Given the description of an element on the screen output the (x, y) to click on. 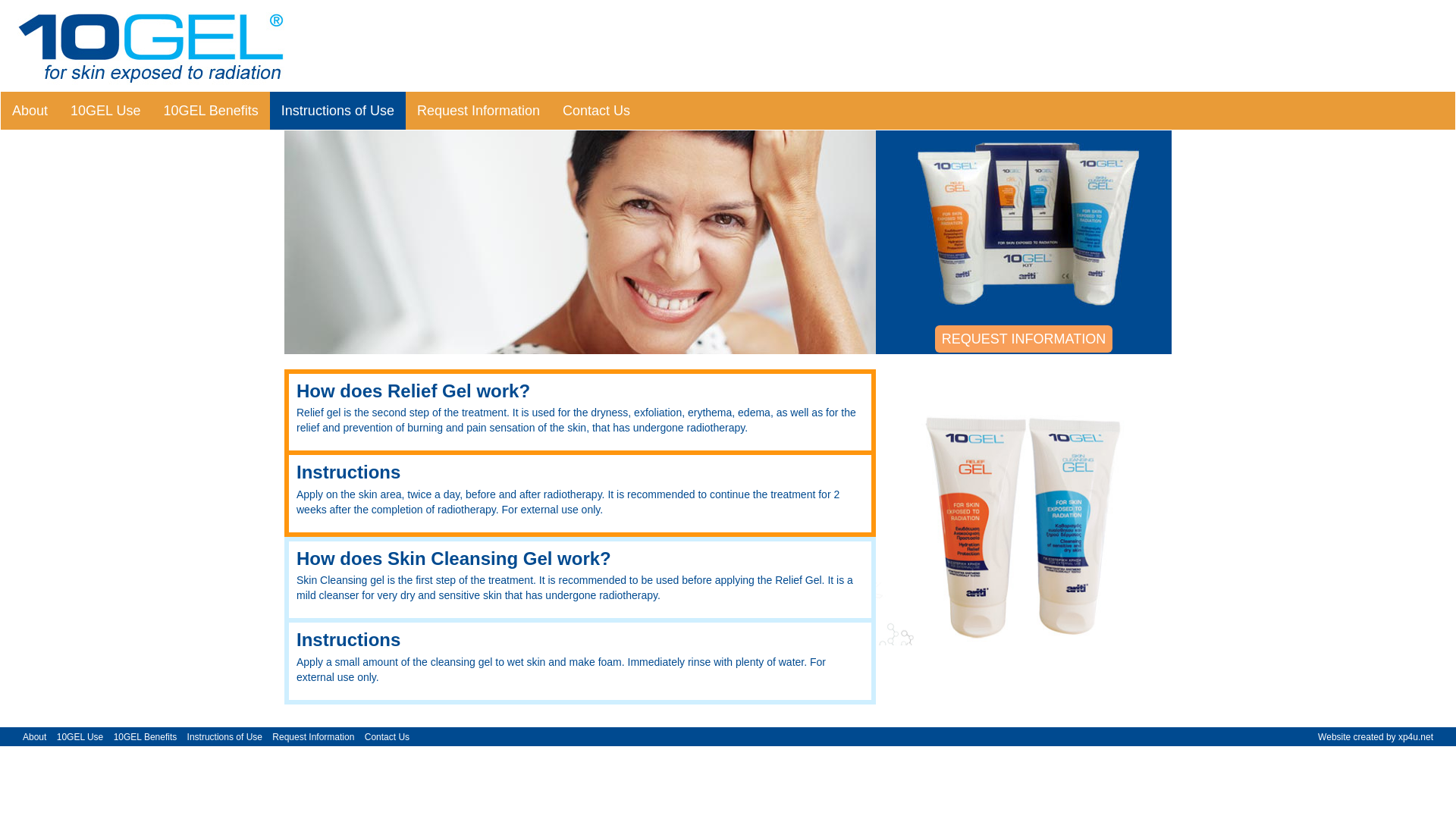
Request Information Element type: text (478, 110)
10GEL Benefits Element type: text (145, 736)
Request Information Element type: text (313, 736)
Contact Us Element type: text (388, 736)
10GEL Use Element type: text (79, 736)
About Element type: text (29, 110)
10GEL Benefits Element type: text (210, 110)
Contact Us Element type: text (596, 110)
Instructions of Use Element type: text (224, 736)
About Element type: text (34, 736)
Instructions of Use Element type: text (337, 110)
10GEL Use Element type: text (105, 110)
REQUEST INFORMATION Element type: text (1023, 338)
